Given the description of an element on the screen output the (x, y) to click on. 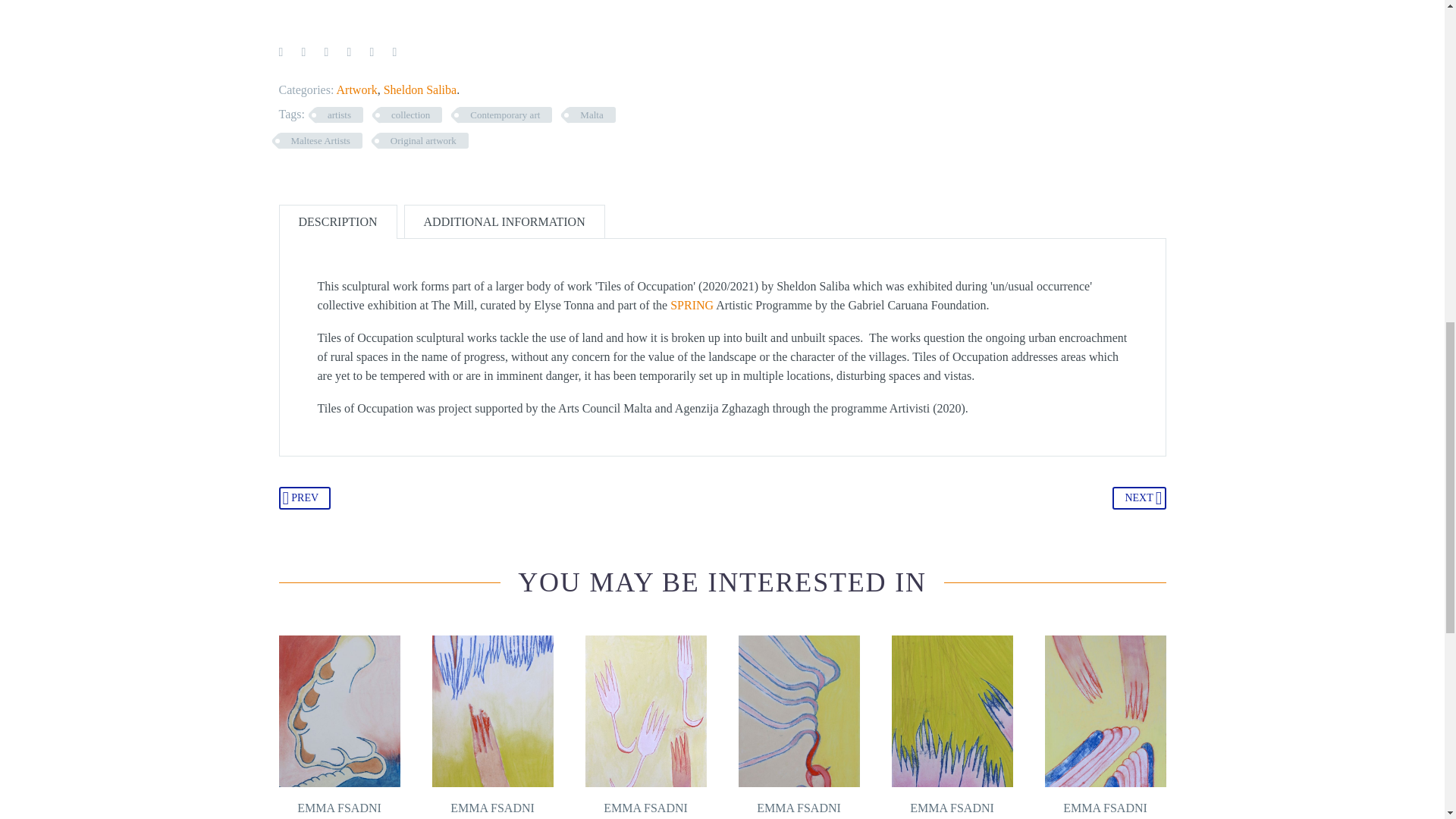
LinkedIn (371, 51)
artists (338, 114)
Tumblr (348, 51)
Sheldon Saliba (420, 89)
Pinterest (325, 51)
Facebook (280, 51)
Artwork (356, 89)
collection (410, 114)
Twitter (302, 51)
Reddit (394, 51)
